Given the description of an element on the screen output the (x, y) to click on. 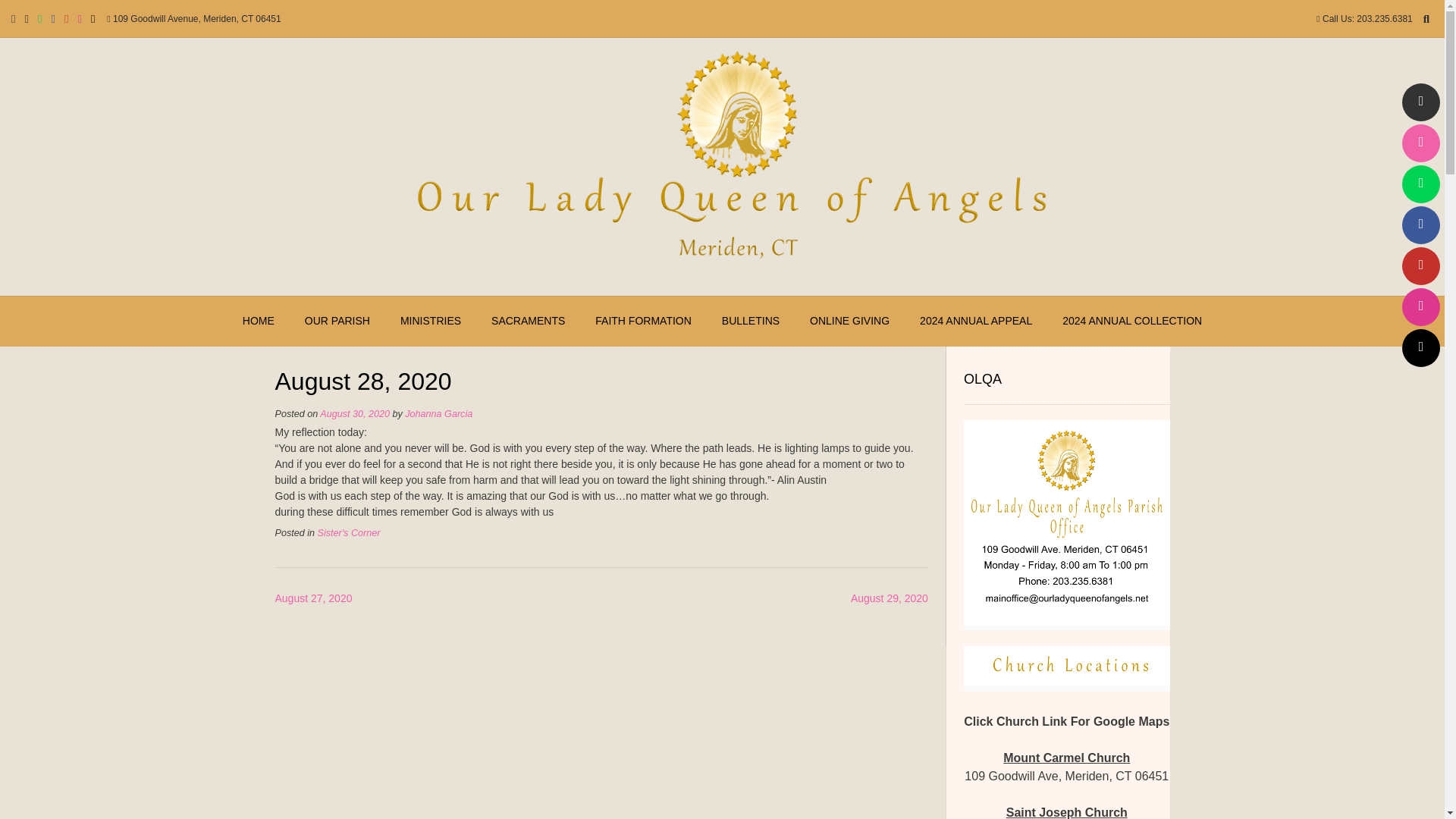
MINISTRIES (430, 321)
Follow Us on Instagram (1420, 306)
View our YouTube Channel (1420, 266)
Call Us (1420, 143)
OUR PARISH (337, 321)
Send Us an Email (1420, 102)
Find Us on Facebook (1420, 225)
HOME (258, 321)
Contact Us on Whatsapp (1420, 184)
